Given the description of an element on the screen output the (x, y) to click on. 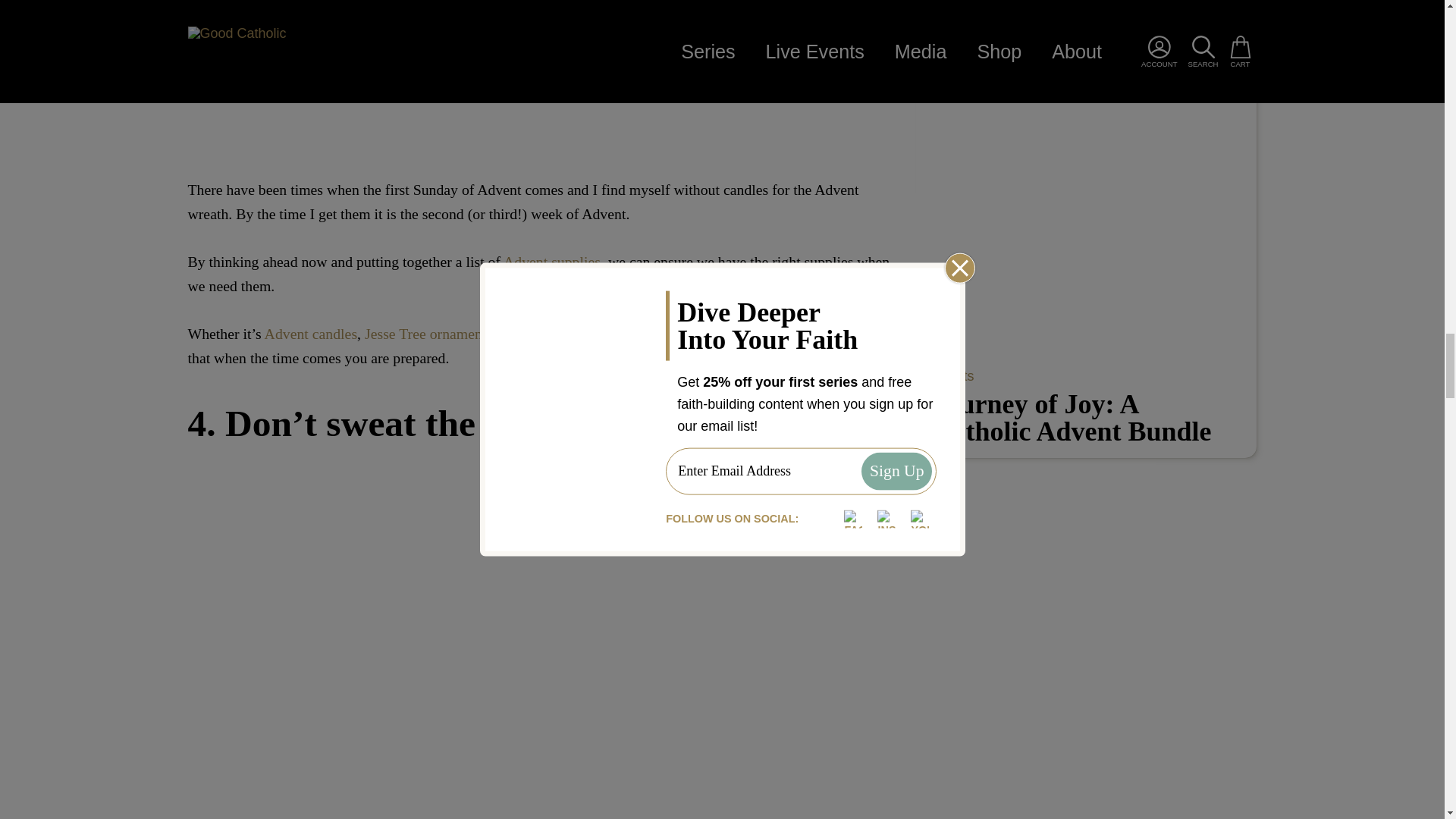
Jesse Tree ornaments (428, 333)
Advent supplies (551, 261)
baking ingredients (571, 333)
Advent candles (311, 333)
